Given the description of an element on the screen output the (x, y) to click on. 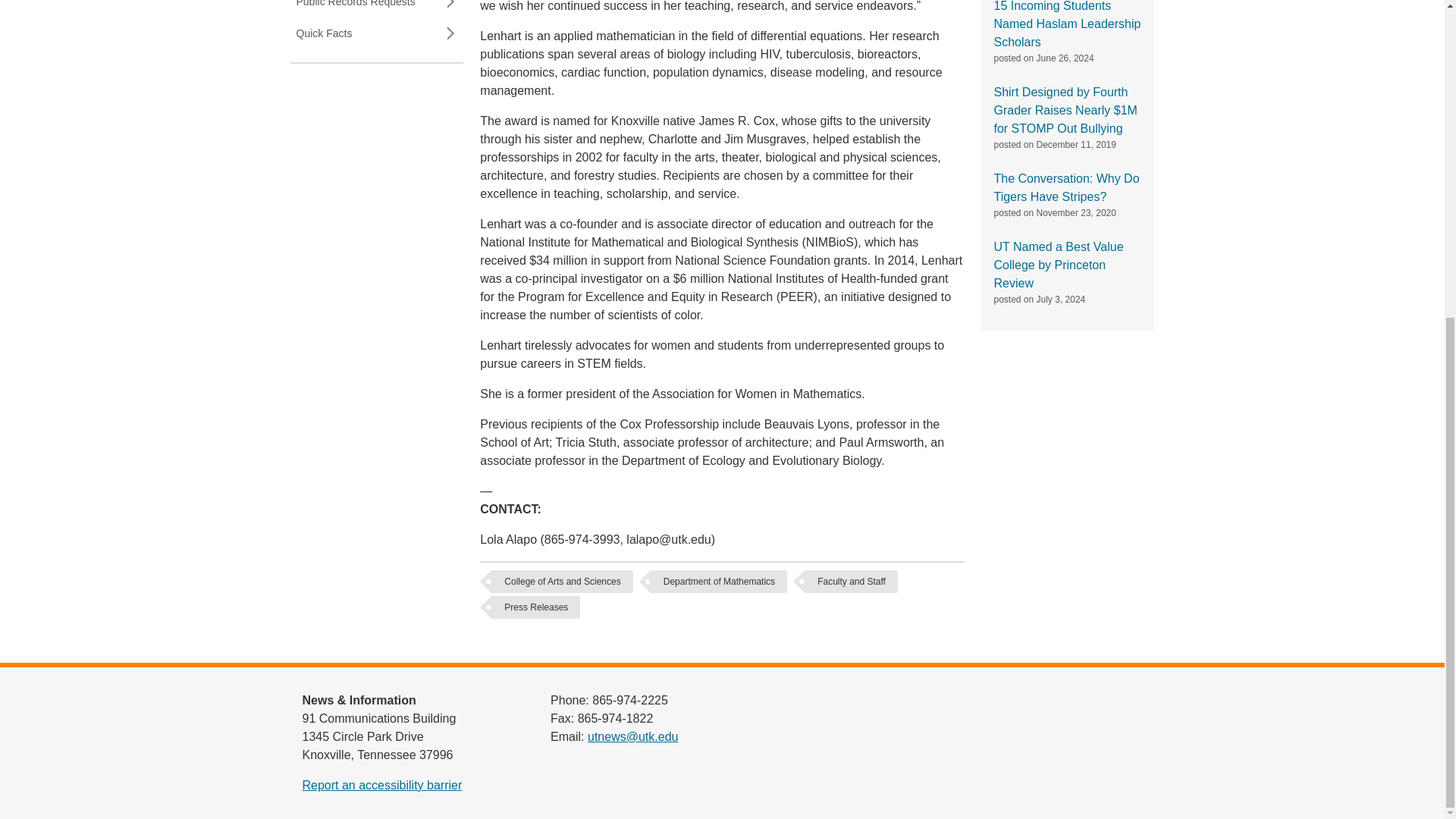
Faculty and Staff (851, 581)
Public Records Requests (376, 8)
Press Releases (535, 607)
Report an accessibility barrier (381, 784)
Department of Mathematics (718, 581)
UT Named a Best Value College by Princeton Review (1057, 264)
College of Arts and Sciences (561, 581)
Quick Facts (376, 33)
The Conversation: Why Do Tigers Have Stripes? (1065, 187)
15 Incoming Students Named Haslam Leadership Scholars (1066, 24)
